Given the description of an element on the screen output the (x, y) to click on. 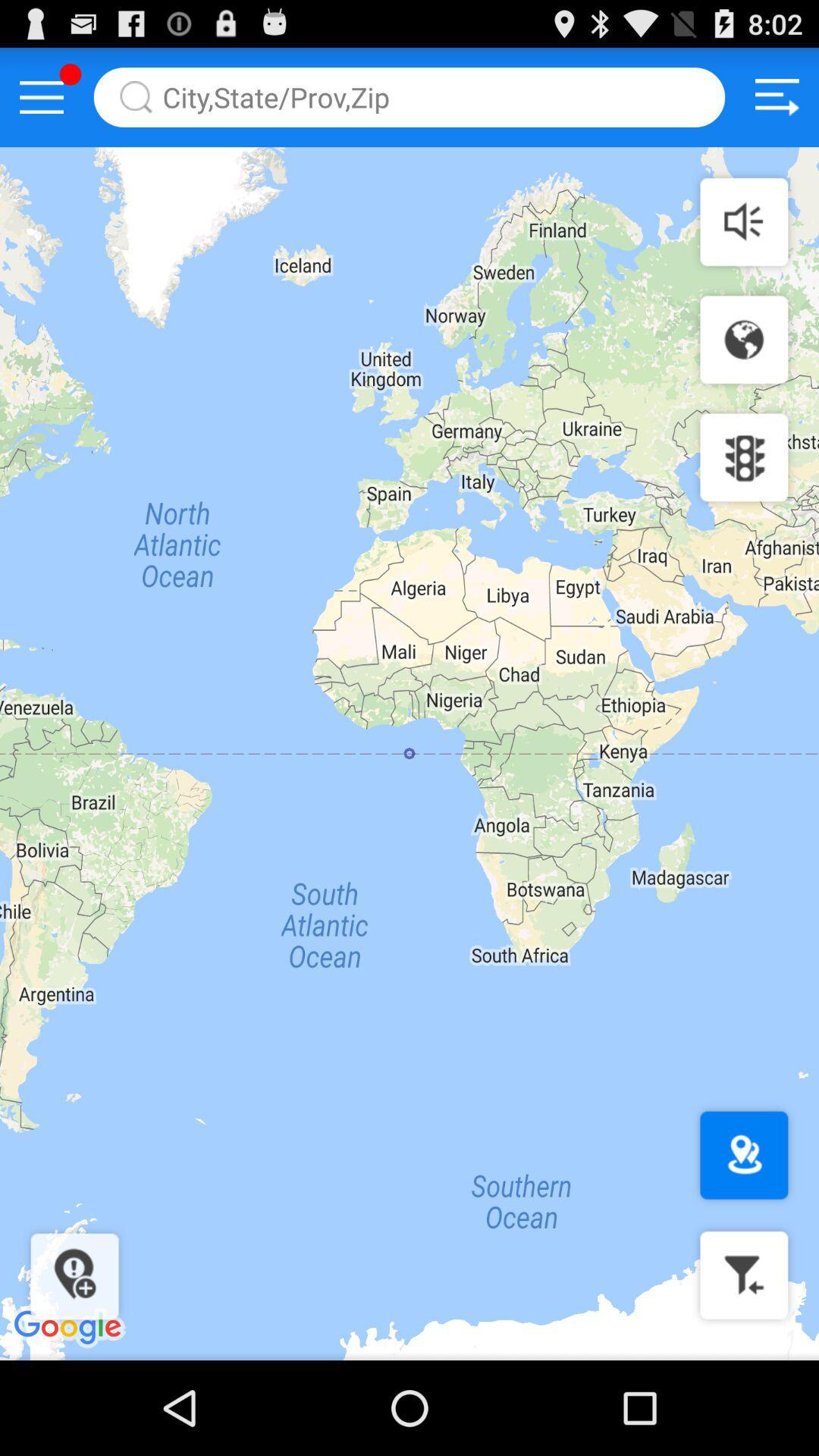
show satellite view (744, 339)
